Given the description of an element on the screen output the (x, y) to click on. 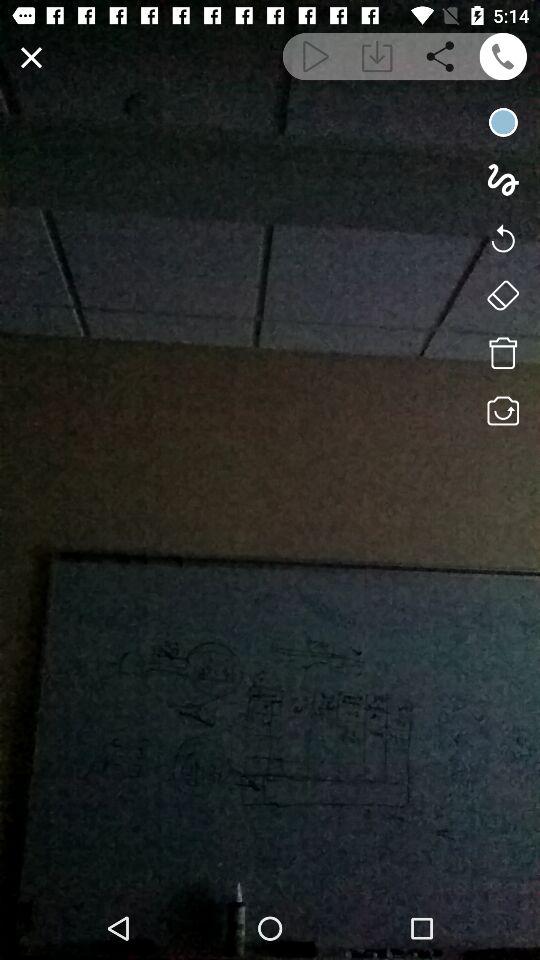
free draw (502, 179)
